Given the description of an element on the screen output the (x, y) to click on. 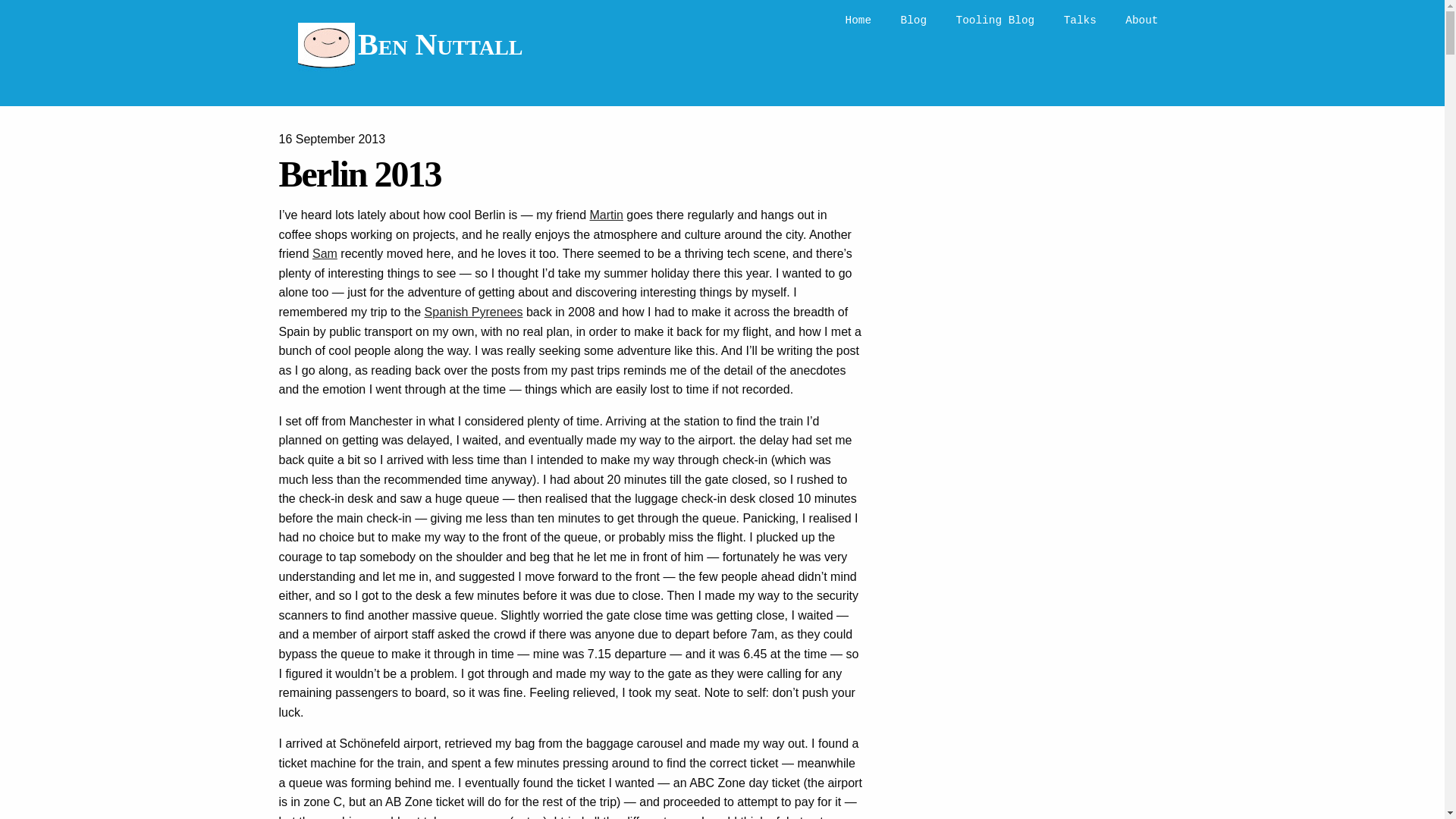
Spanish Pyrenees (473, 311)
Martin (606, 214)
Home (858, 20)
About (1141, 20)
Blog (914, 20)
Talks (1080, 20)
Sam (325, 253)
Tooling Blog (995, 20)
Ben Nuttall (409, 50)
Pyrenees 2008 (473, 311)
